Given the description of an element on the screen output the (x, y) to click on. 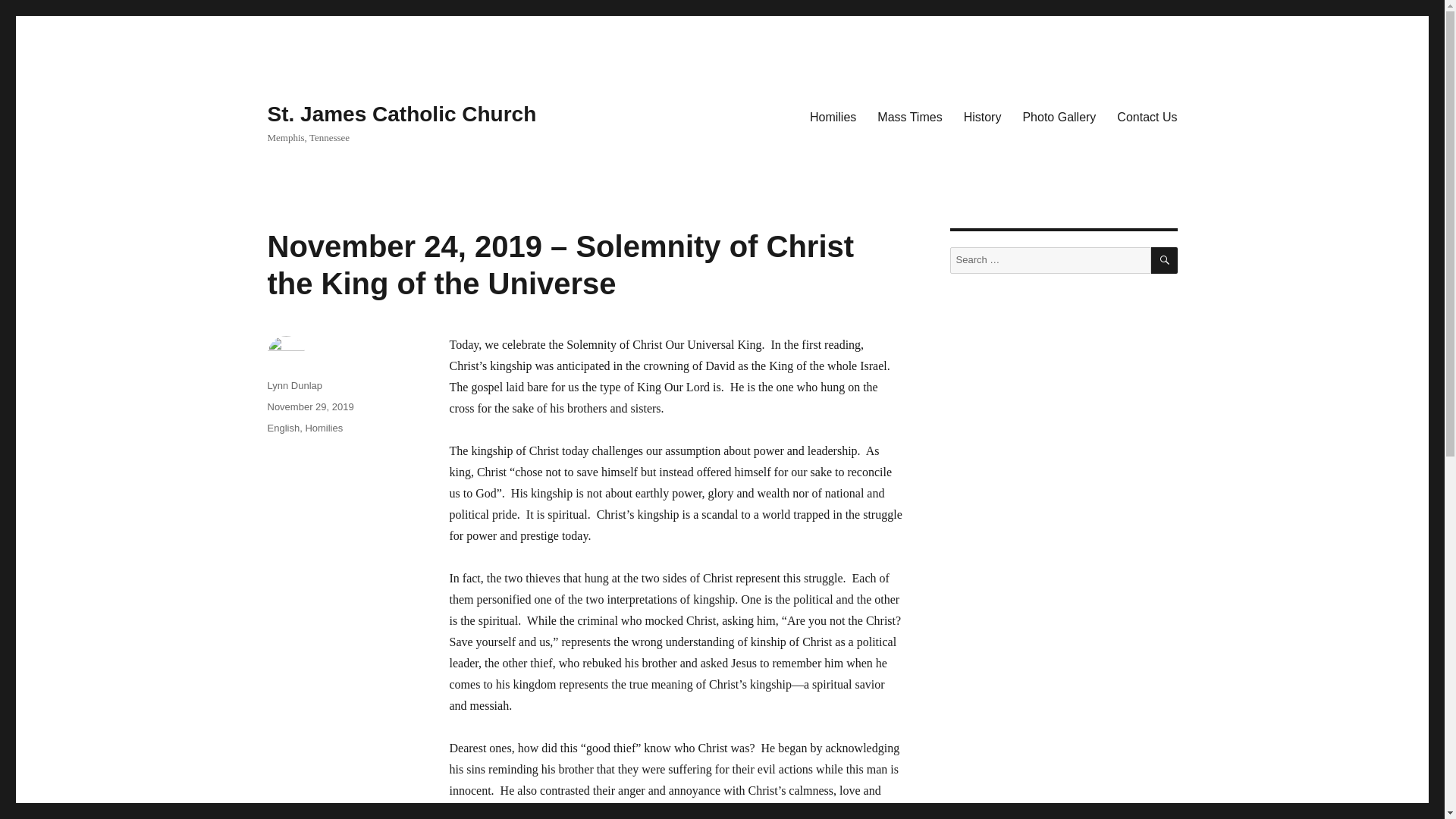
St. James Catholic Church (400, 114)
SEARCH (1164, 260)
Homilies (323, 428)
English (282, 428)
November 29, 2019 (309, 406)
Contact Us (1147, 116)
Homilies (832, 116)
Photo Gallery (1058, 116)
Mass Times (909, 116)
Lynn Dunlap (293, 385)
History (982, 116)
